Given the description of an element on the screen output the (x, y) to click on. 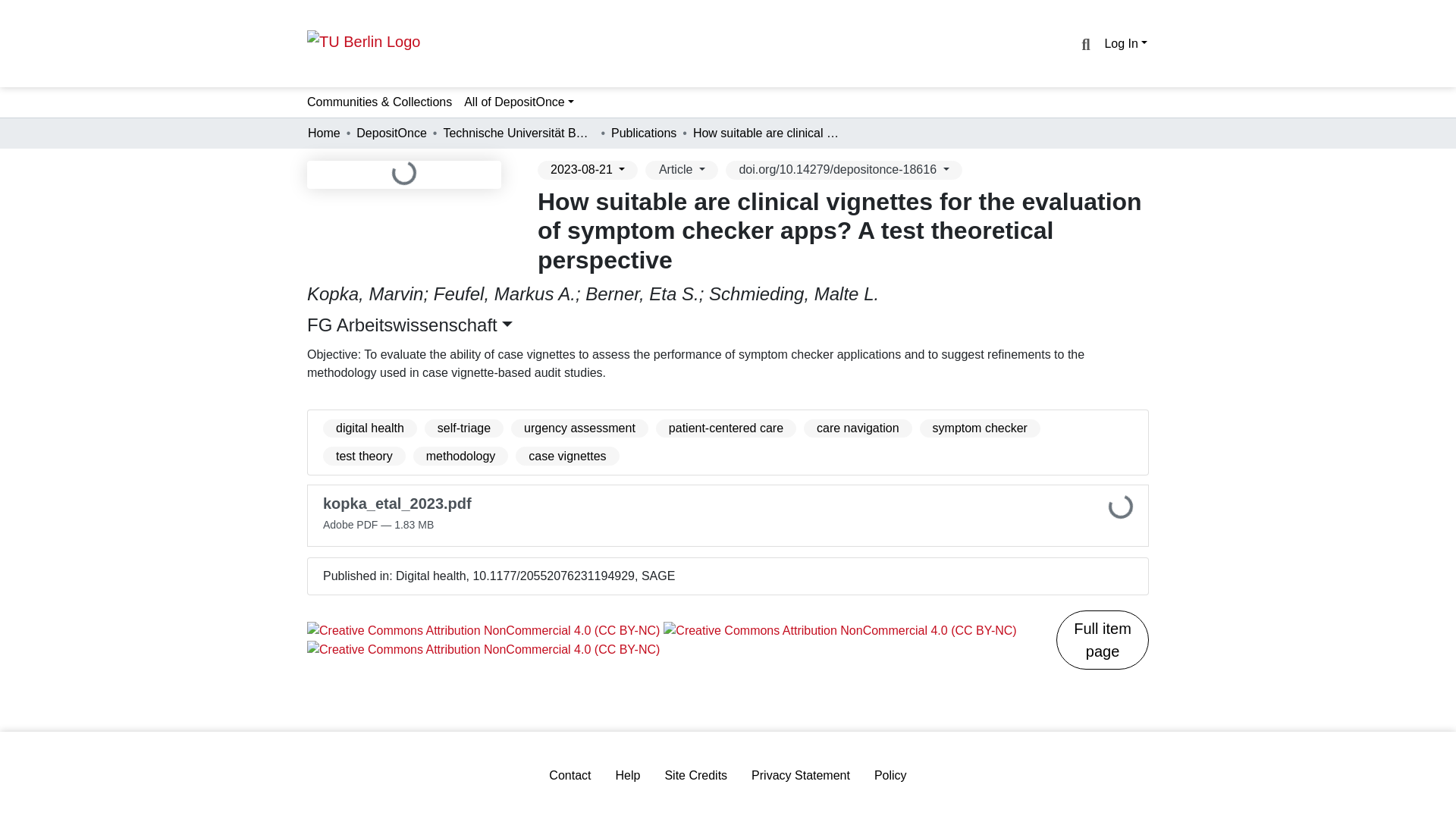
Home (323, 133)
symptom checker (980, 428)
All of DepositOnce (518, 101)
case vignettes (566, 456)
patient-centered care (726, 428)
FG Arbeitswissenschaft (409, 324)
Publications (644, 133)
self-triage (464, 428)
digital health (369, 428)
Search (1084, 45)
urgency assessment (579, 428)
Schmieding, Malte L. (794, 293)
TU Berlin (363, 40)
2023-08-21 (587, 169)
test theory (364, 456)
